Given the description of an element on the screen output the (x, y) to click on. 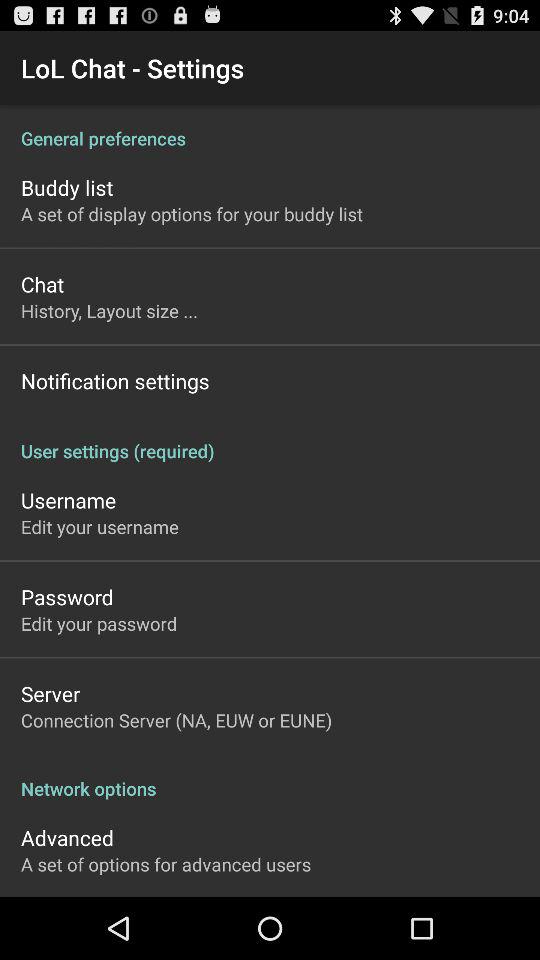
click the icon above user settings (required) app (115, 380)
